Given the description of an element on the screen output the (x, y) to click on. 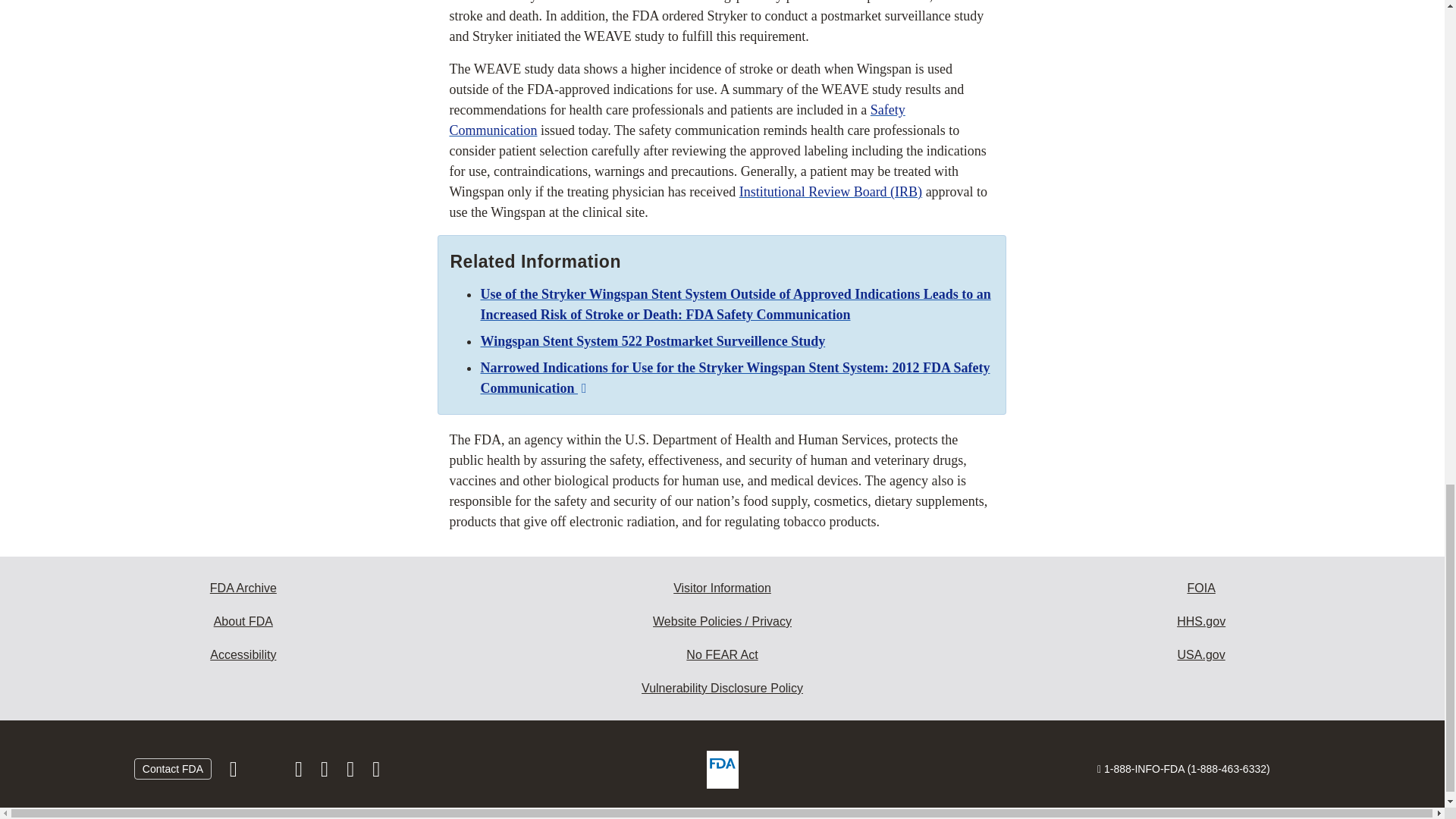
Subscribe to FDA RSS feeds (376, 772)
View FDA videos on YouTube (352, 772)
Freedom of Information Act (1200, 588)
Follow FDA on Facebook (234, 772)
Follow FDA on X (266, 772)
Follow FDA on Instagram (299, 772)
Follow FDA on LinkedIn (326, 772)
Health and Human Services (1200, 621)
